Given the description of an element on the screen output the (x, y) to click on. 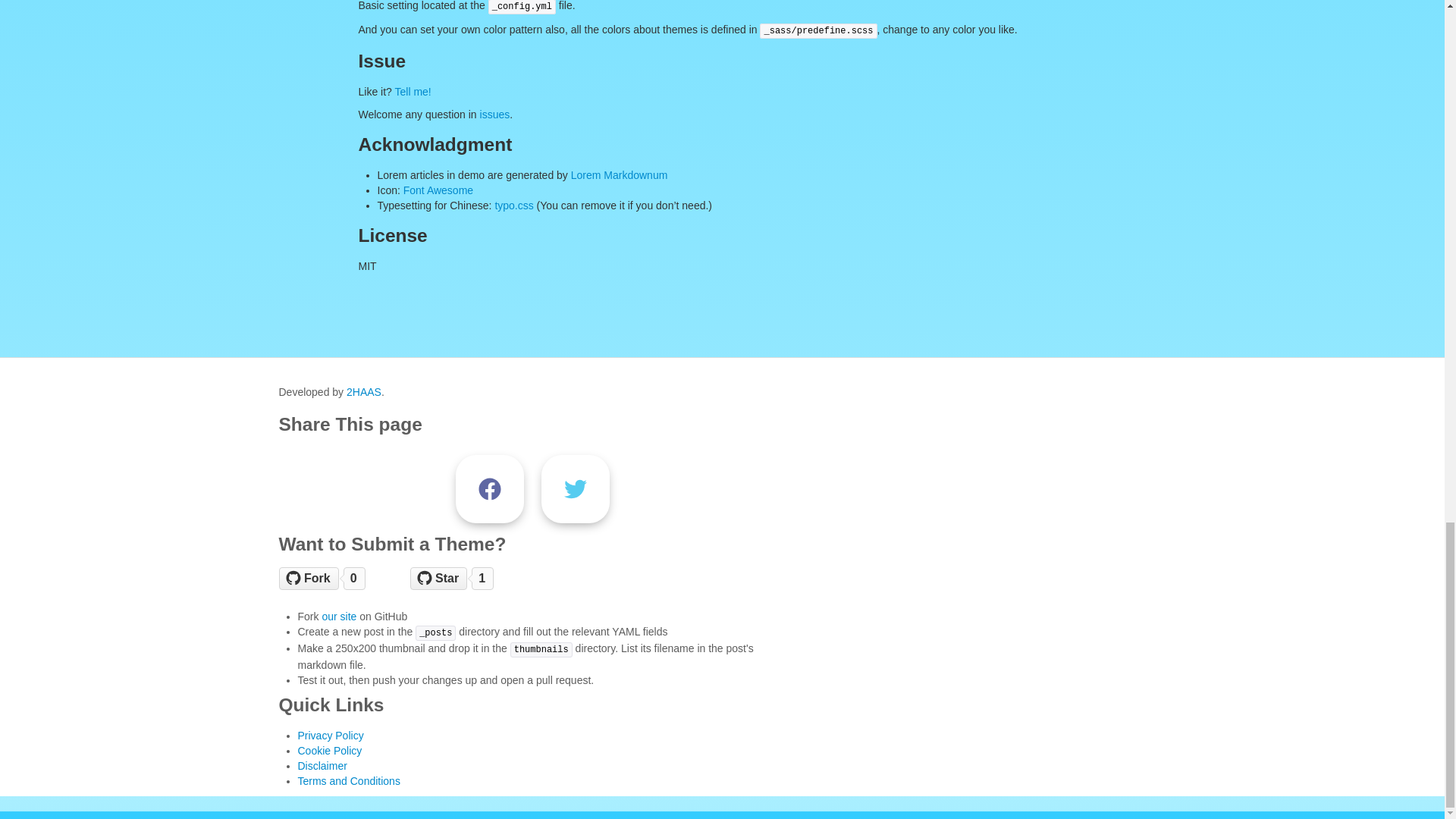
typo.css (513, 205)
Privacy Policy (329, 735)
Cookie Policy (329, 750)
GitHub (343, 578)
Disclaimer (321, 766)
Font Awesome (438, 190)
Tell me! (412, 91)
Share on Twitter (575, 489)
Share on Facebook (489, 489)
Lorem Markdownum (619, 174)
GitHub (474, 578)
our site (338, 616)
Terms and Conditions (347, 780)
issues (495, 114)
2HAAS (363, 391)
